Given the description of an element on the screen output the (x, y) to click on. 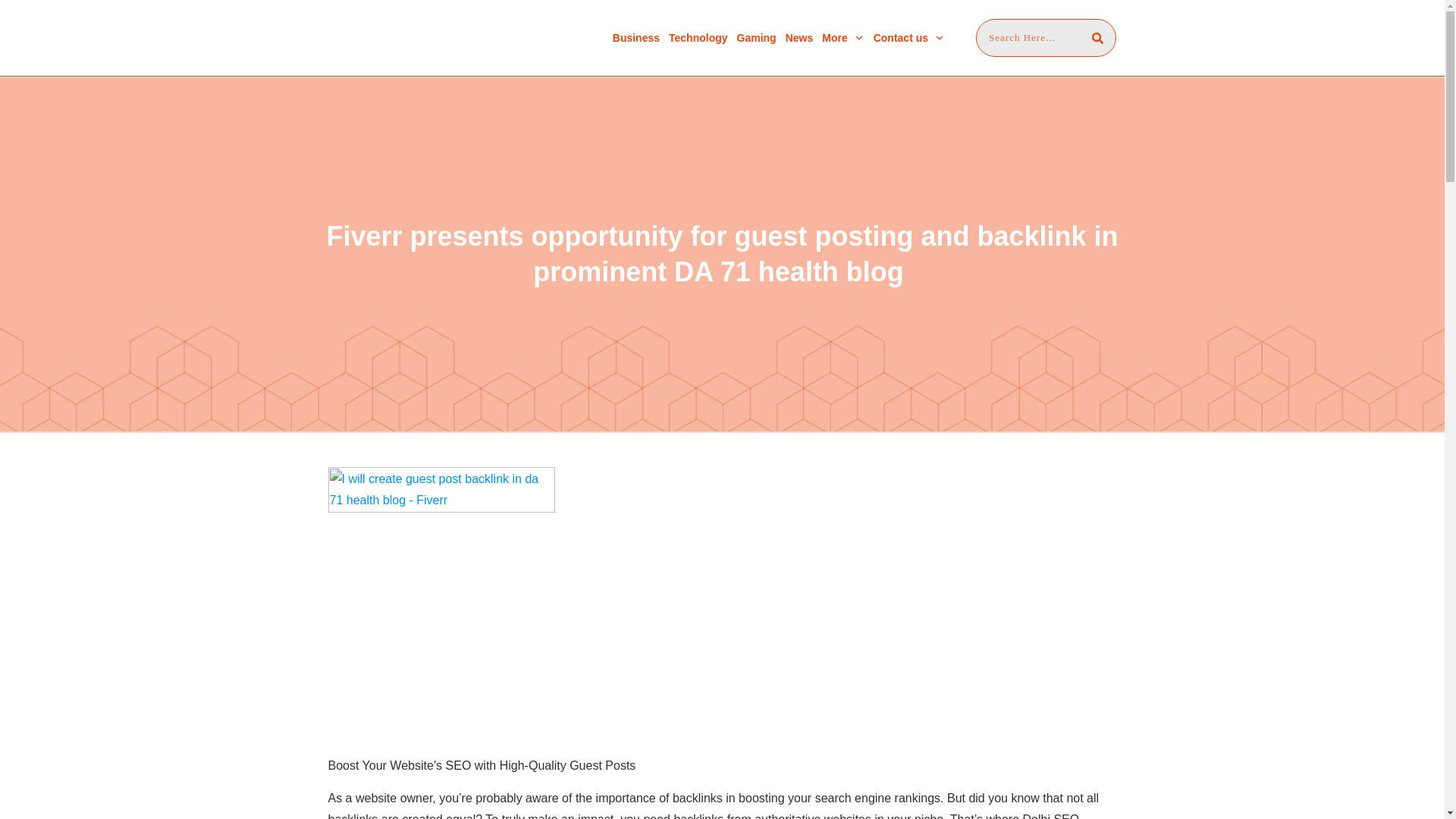
Contact us (908, 37)
Gaming (756, 37)
Technology (698, 37)
News (799, 37)
More (842, 37)
Business (635, 37)
